Given the description of an element on the screen output the (x, y) to click on. 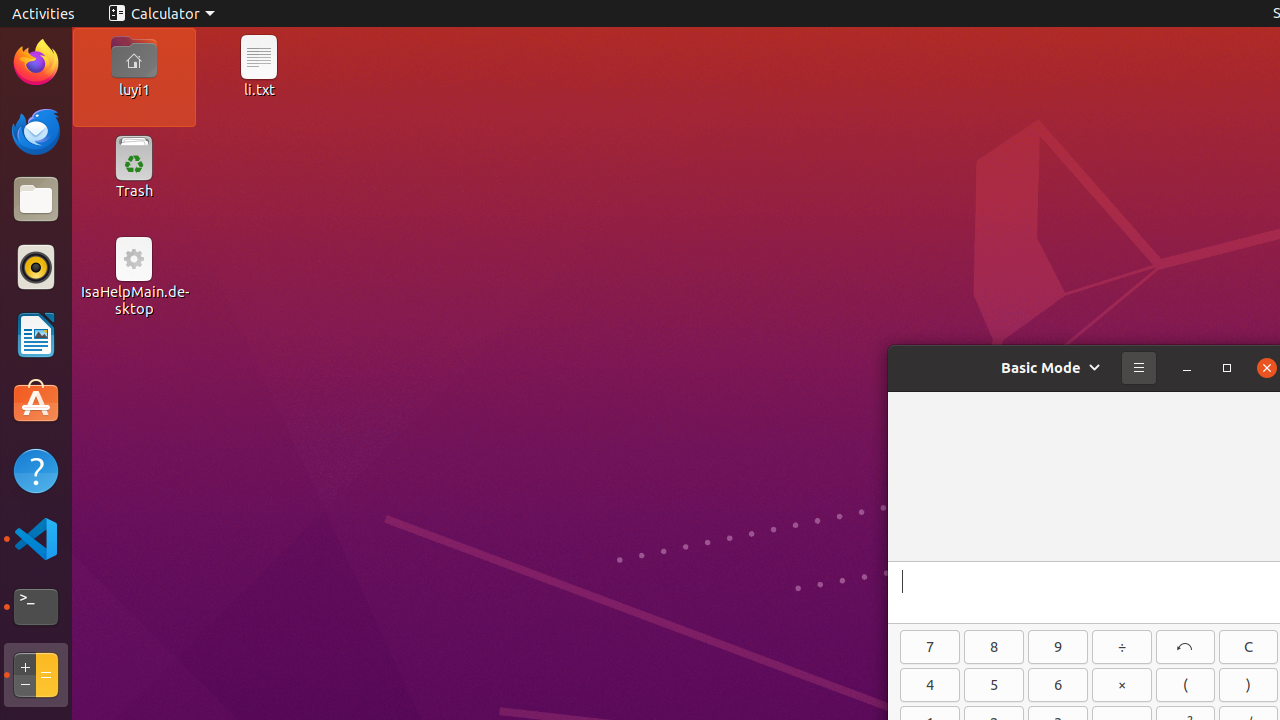
9 Element type: push-button (1058, 647)
× Element type: push-button (1122, 685)
Trash Element type: label (133, 191)
7 Element type: push-button (930, 647)
Firefox Web Browser Element type: push-button (36, 63)
